Given the description of an element on the screen output the (x, y) to click on. 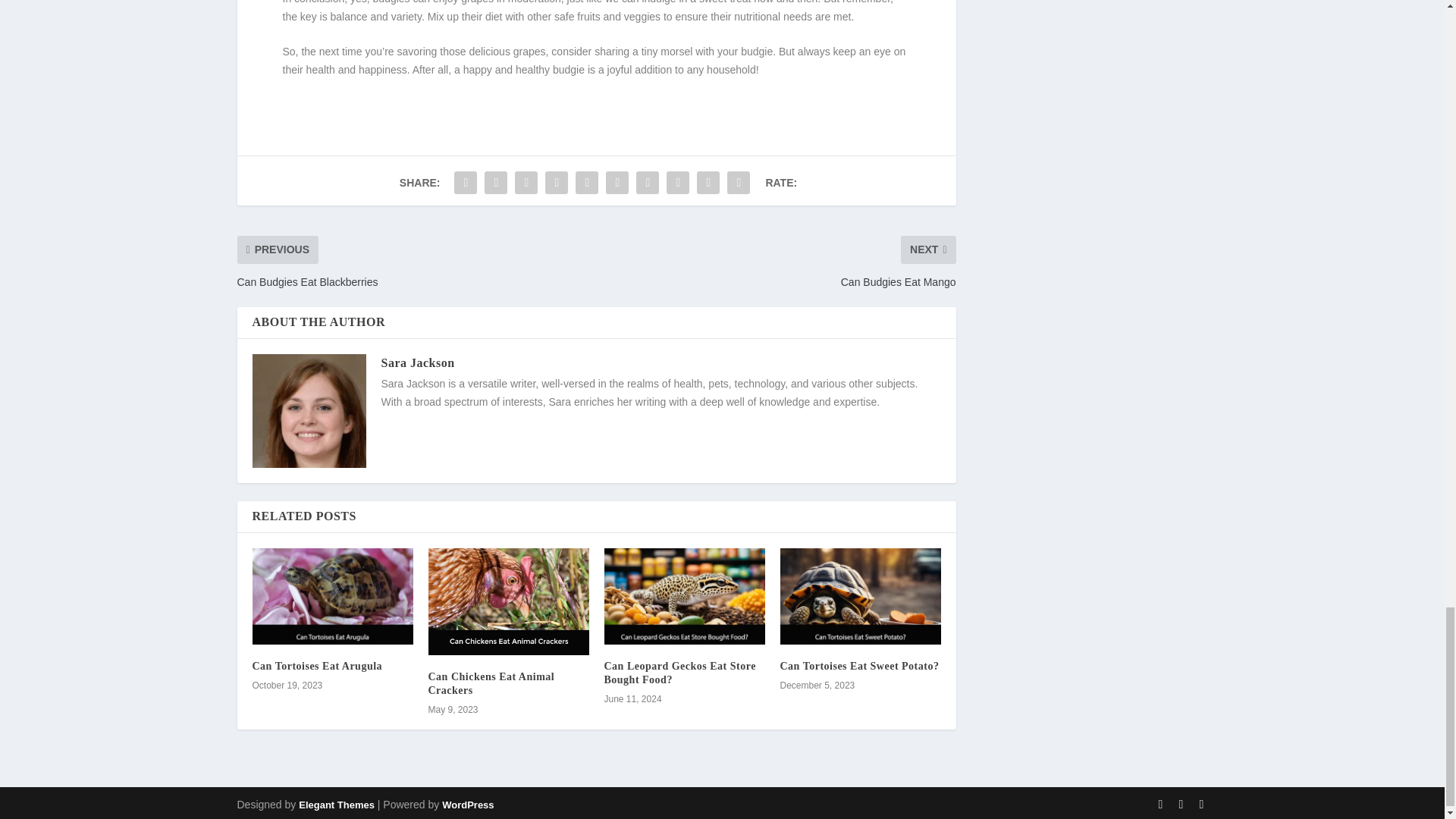
Share "Can Budgies Eat Grapes" via Facebook (464, 182)
Share "Can Budgies Eat Grapes" via Twitter (495, 182)
